Given the description of an element on the screen output the (x, y) to click on. 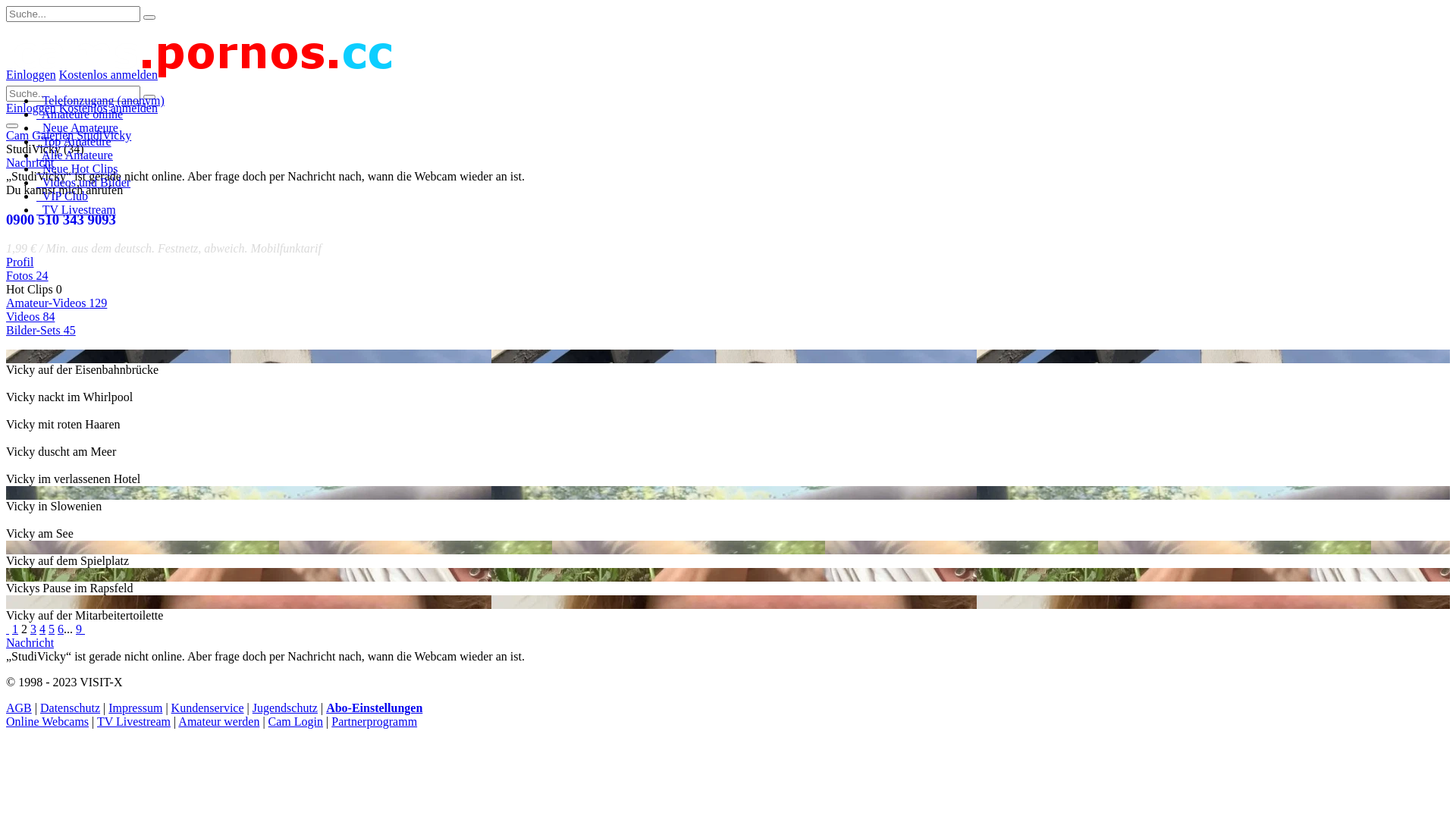
Einloggen Element type: text (31, 107)
Kostenlos anmelden Element type: text (108, 107)
5 Element type: text (51, 628)
  Top Amateure Element type: text (73, 140)
Kostenlos anmelden Element type: text (108, 72)
  Neue Amateure Element type: text (77, 127)
  Element type: text (82, 628)
Kundenservice Element type: text (207, 707)
Videos 84 Element type: text (30, 316)
  Telefonzugang (anonym) Element type: text (100, 100)
  VIP Club Element type: text (61, 195)
  Neue Hot Clips Element type: text (77, 168)
Abo-Einstellungen Element type: text (374, 707)
4 Element type: text (42, 628)
  TV Livestream Element type: text (76, 209)
0900 510 343 9093 Element type: text (61, 219)
Partnerprogramm Element type: text (374, 721)
6 Element type: text (60, 628)
  Videos und Bilder Element type: text (83, 181)
AGB Element type: text (18, 707)
Cam Login Element type: text (295, 721)
Datenschutz Element type: text (70, 707)
  Alle Amateure Element type: text (74, 154)
Online Webcams Element type: text (47, 721)
  Element type: text (7, 628)
Einloggen Element type: text (31, 72)
1 Element type: text (15, 628)
Amateur werden Element type: text (218, 721)
3 Element type: text (33, 628)
TV Livestream Element type: text (133, 721)
Fotos 24 Element type: text (27, 275)
Nachricht Element type: text (29, 642)
Jugendschutz Element type: text (284, 707)
Nachricht Element type: text (29, 162)
  Amateure online Element type: text (79, 113)
Impressum Element type: text (135, 707)
9 Element type: text (78, 628)
Bilder-Sets 45 Element type: text (40, 329)
Profil Element type: text (19, 261)
Amateur-Videos 129 Element type: text (56, 302)
Cam Galerien Element type: text (39, 134)
StudiVicky Element type: text (103, 134)
